Given the description of an element on the screen output the (x, y) to click on. 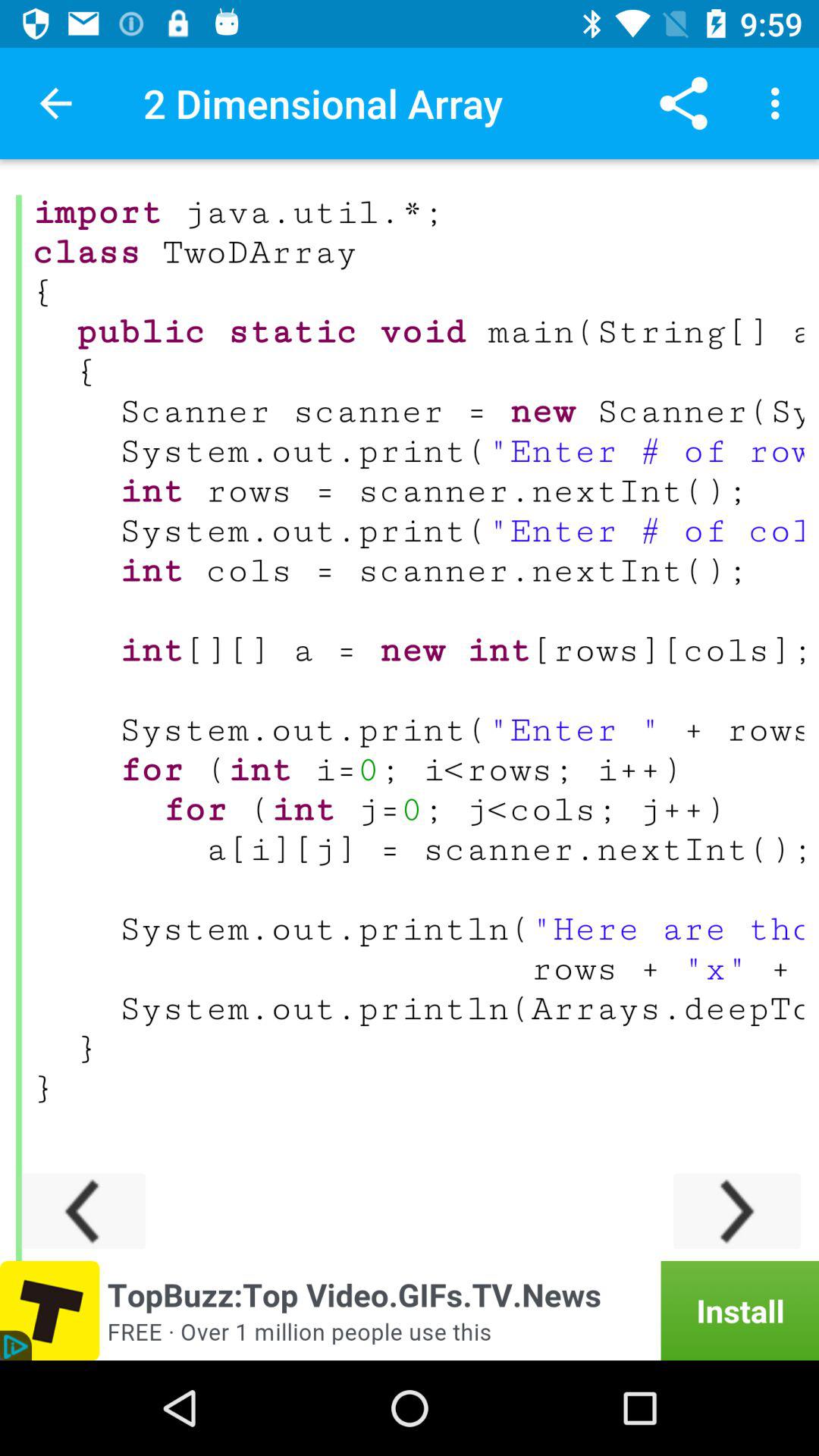
back (81, 1210)
